Given the description of an element on the screen output the (x, y) to click on. 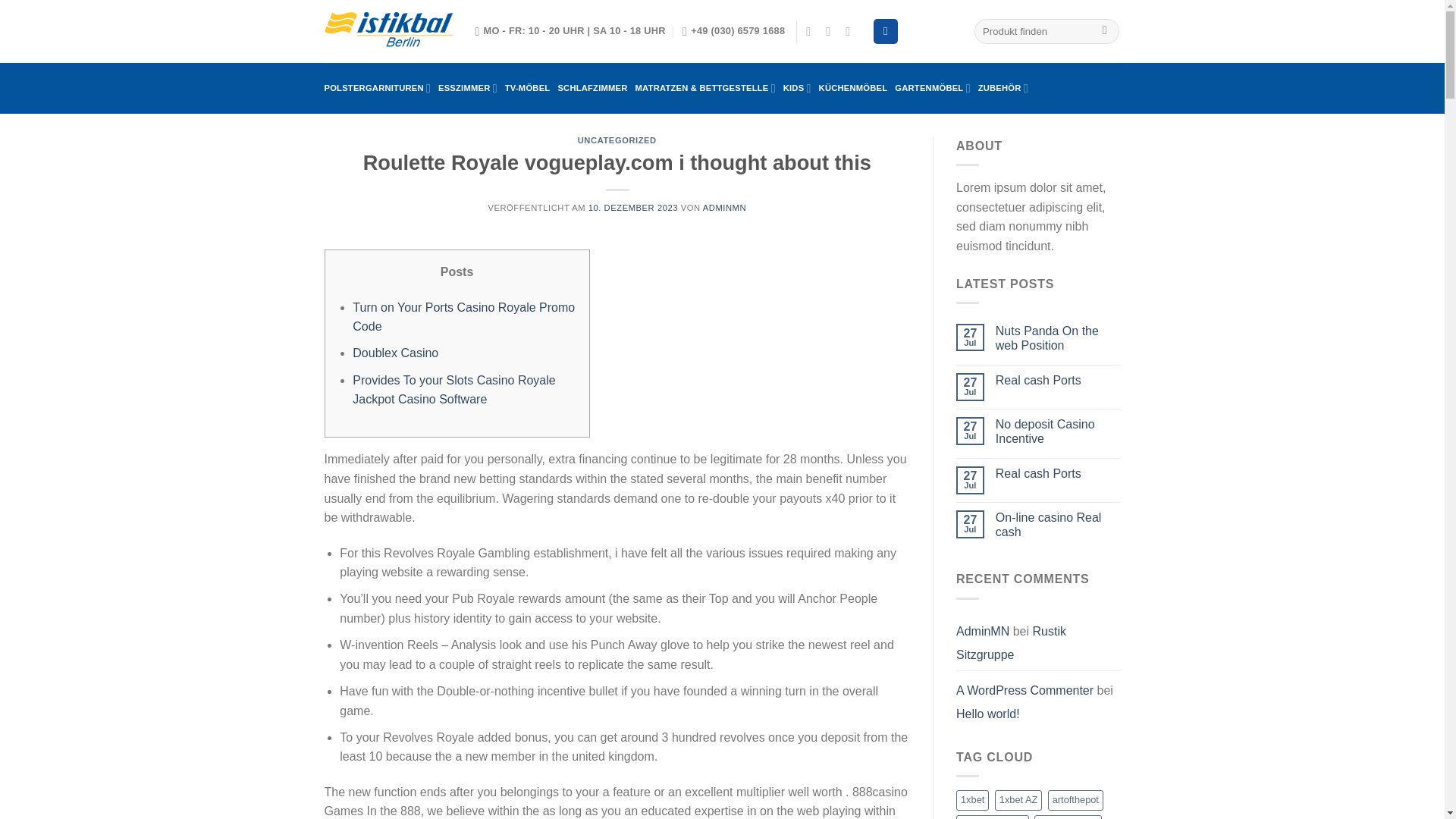
Suche (1105, 31)
SCHLAFZIMMER (592, 88)
No deposit Casino Incentive (1058, 430)
istikbal-berlin.de (388, 31)
On-line casino Real cash (1058, 524)
ESSZIMMER (467, 88)
Nuts Panda On the web Position (1058, 337)
Real cash Ports (1058, 380)
Real cash Ports (1058, 473)
POLSTERGARNITUREN (377, 88)
